Given the description of an element on the screen output the (x, y) to click on. 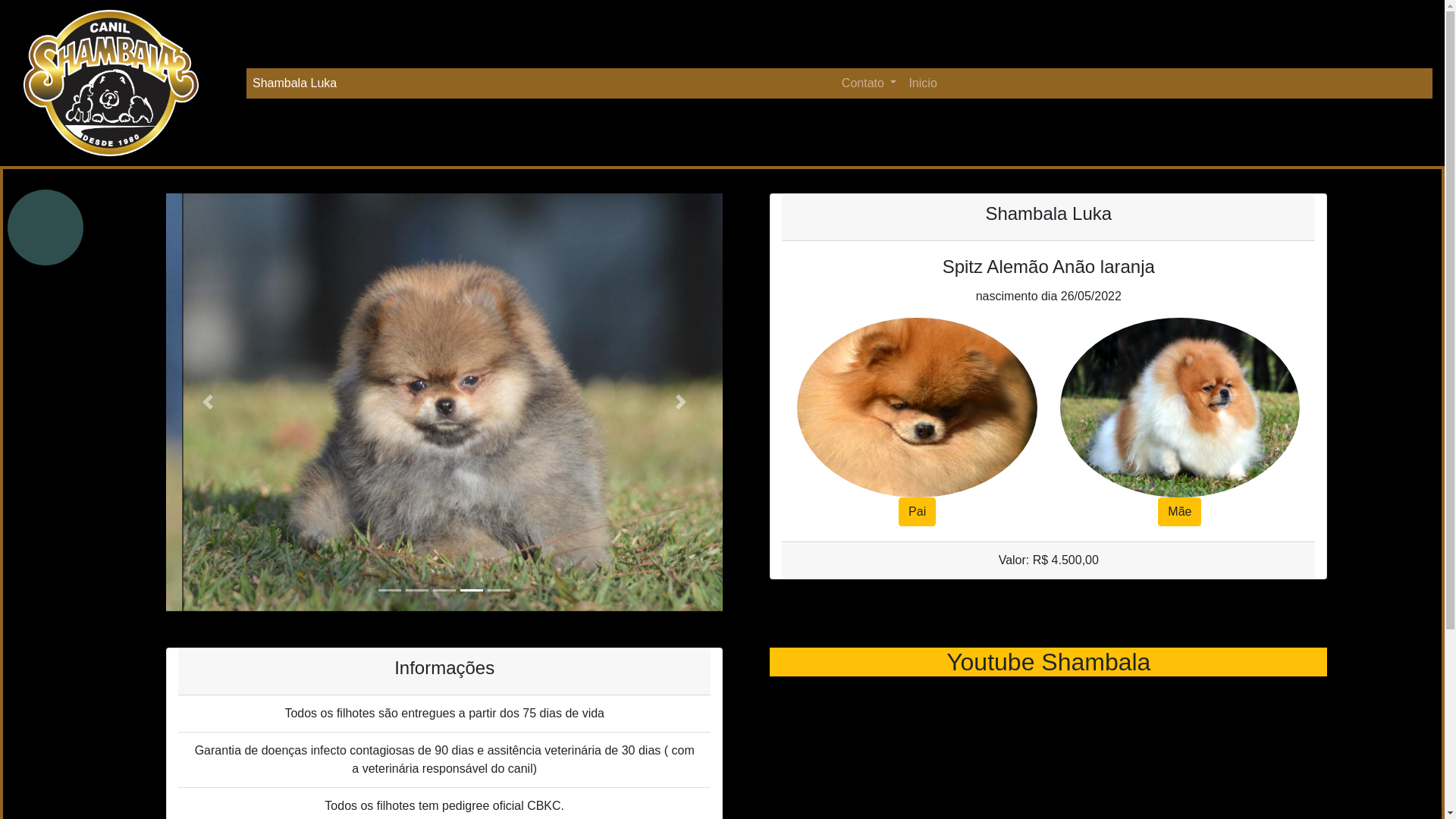
Next Element type: text (680, 402)
Pai Element type: text (916, 511)
Contato Element type: text (869, 83)
Inicio Element type: text (922, 83)
Previous Element type: text (207, 402)
Shambala Luka 
(current) Element type: text (296, 83)
